Given the description of an element on the screen output the (x, y) to click on. 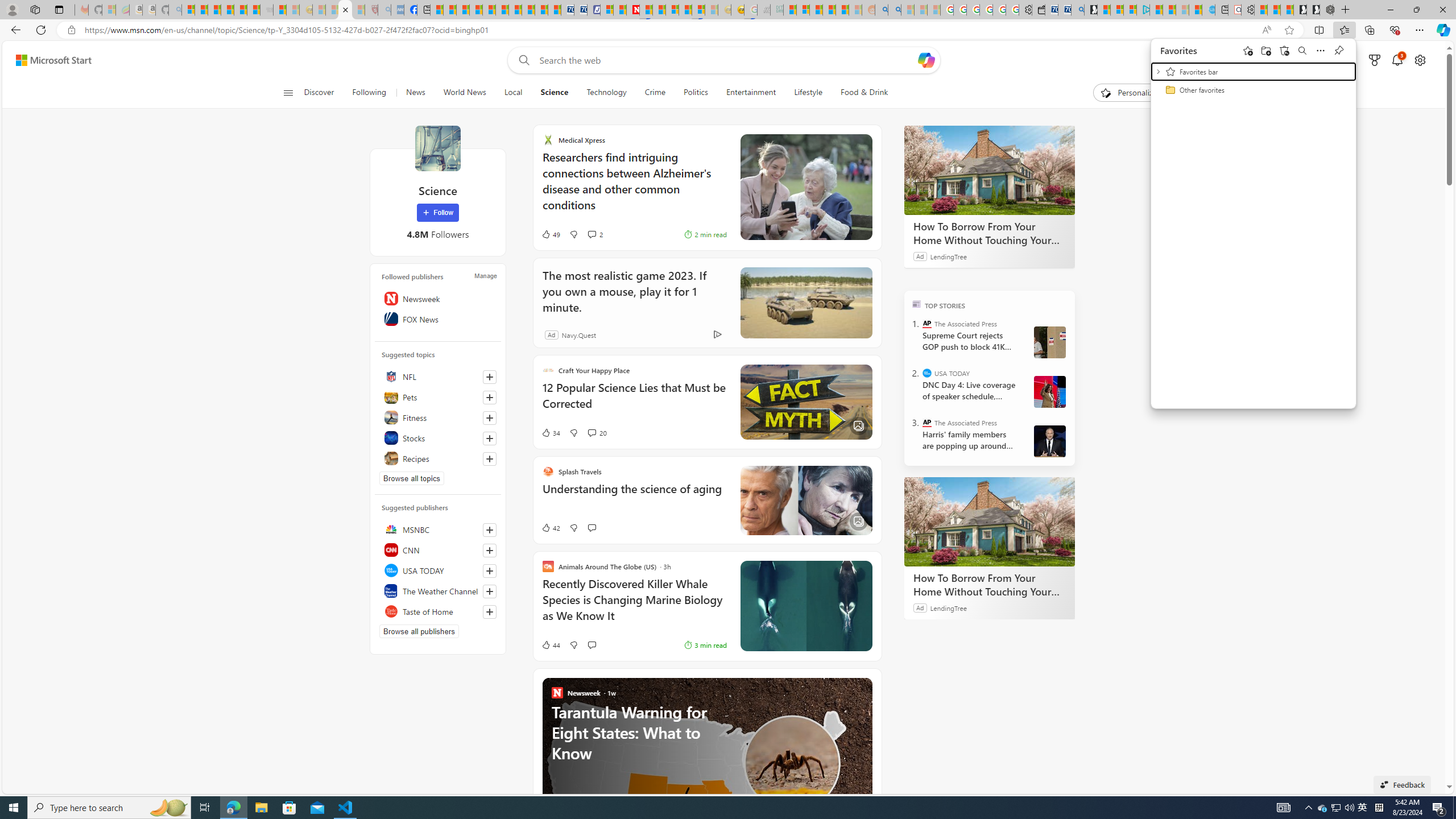
Search favorites (1362, 807)
Start (1302, 49)
User Promoted Notification Area (13, 807)
